Given the description of an element on the screen output the (x, y) to click on. 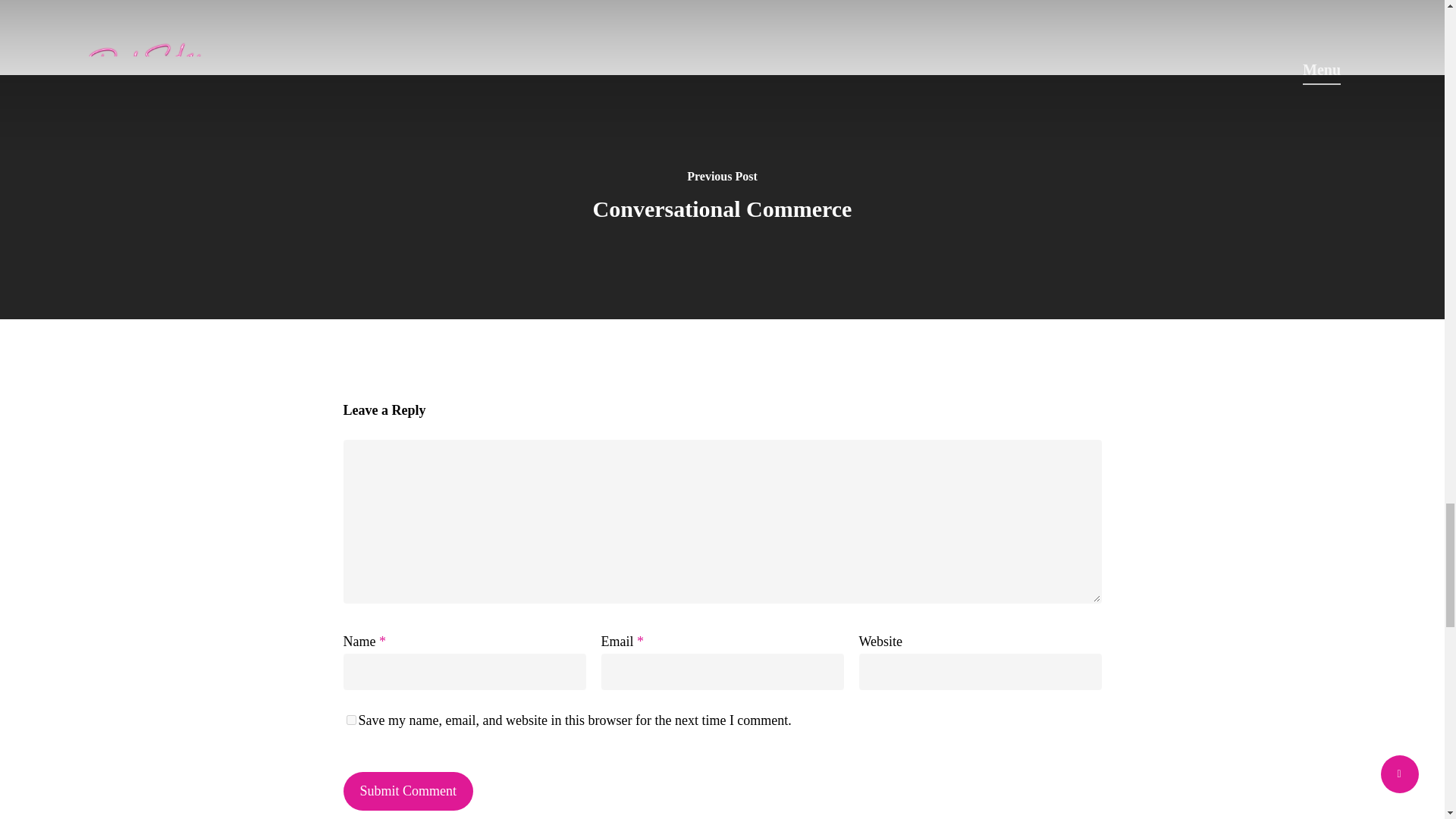
yes (350, 719)
Submit Comment (407, 791)
Submit Comment (407, 791)
